Given the description of an element on the screen output the (x, y) to click on. 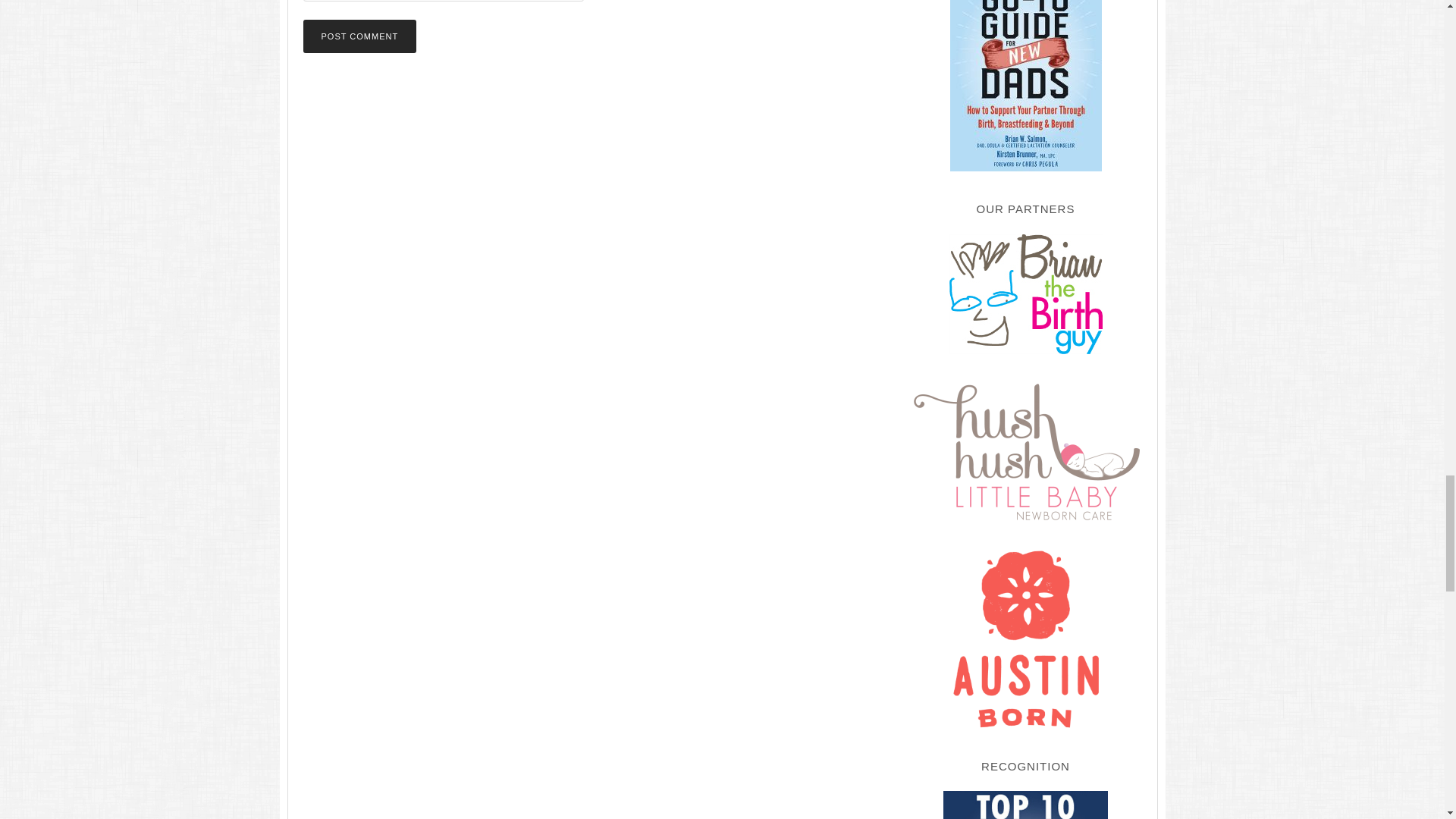
Post Comment (359, 36)
